Given the description of an element on the screen output the (x, y) to click on. 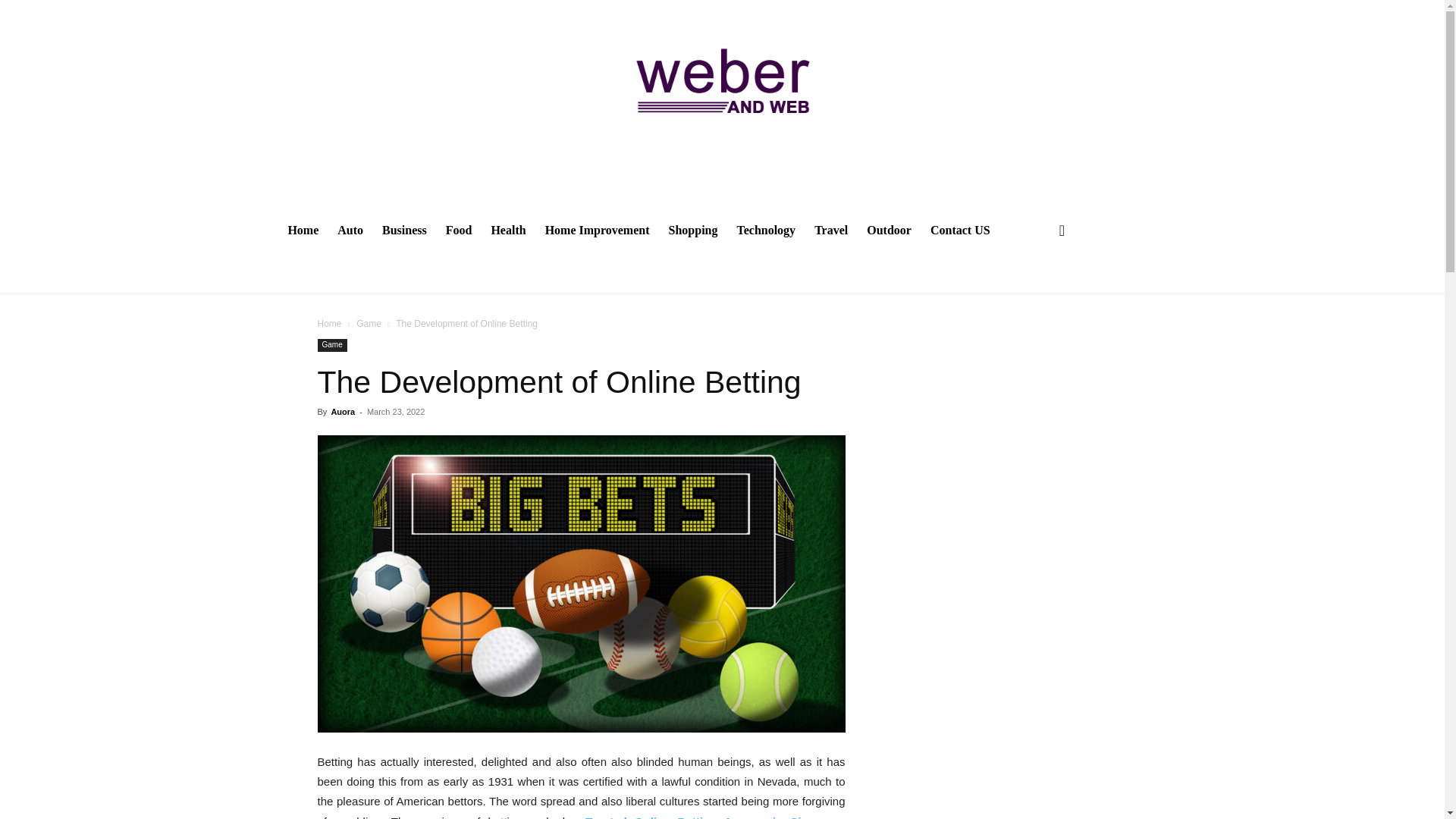
Travel (830, 230)
Home (328, 323)
Game (331, 345)
Trusted Online Betting Agency in Singapore (714, 816)
Health (507, 230)
Business (403, 230)
Contact US (960, 230)
Home Improvement (596, 230)
Technology (765, 230)
Auora (342, 411)
View all posts in Game (368, 323)
Shopping (692, 230)
Game (368, 323)
Outdoor (888, 230)
